Given the description of an element on the screen output the (x, y) to click on. 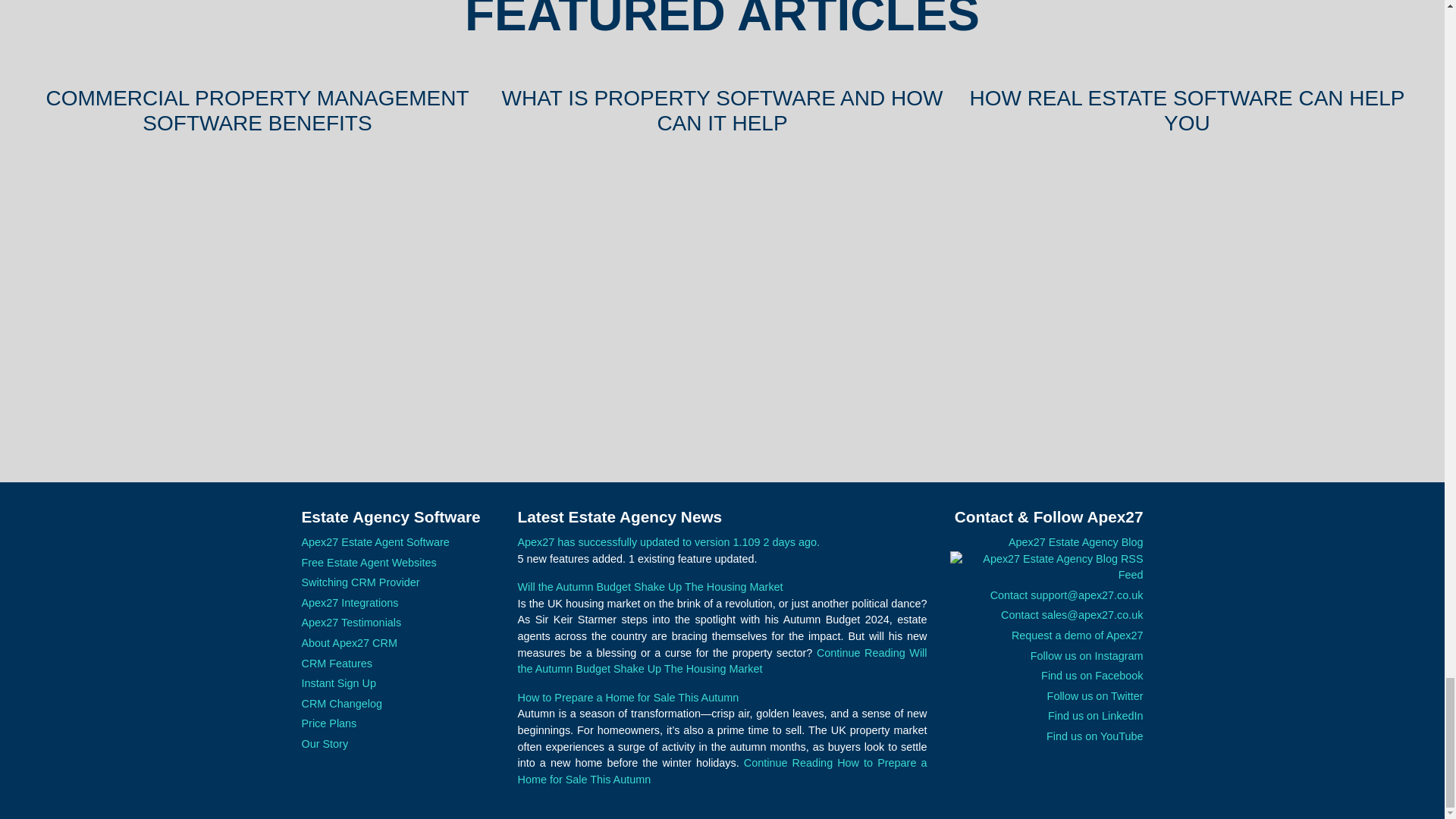
Software for Commercial Property Management (257, 293)
Property Software (721, 293)
Real Estate Software (1186, 293)
Apex27 Testimonials (351, 622)
Free Estate Agent Websites (368, 562)
Apex27 Estate Agent Software (375, 541)
Apex27 Integrations (349, 603)
Switching CRM Provider (360, 582)
